Given the description of an element on the screen output the (x, y) to click on. 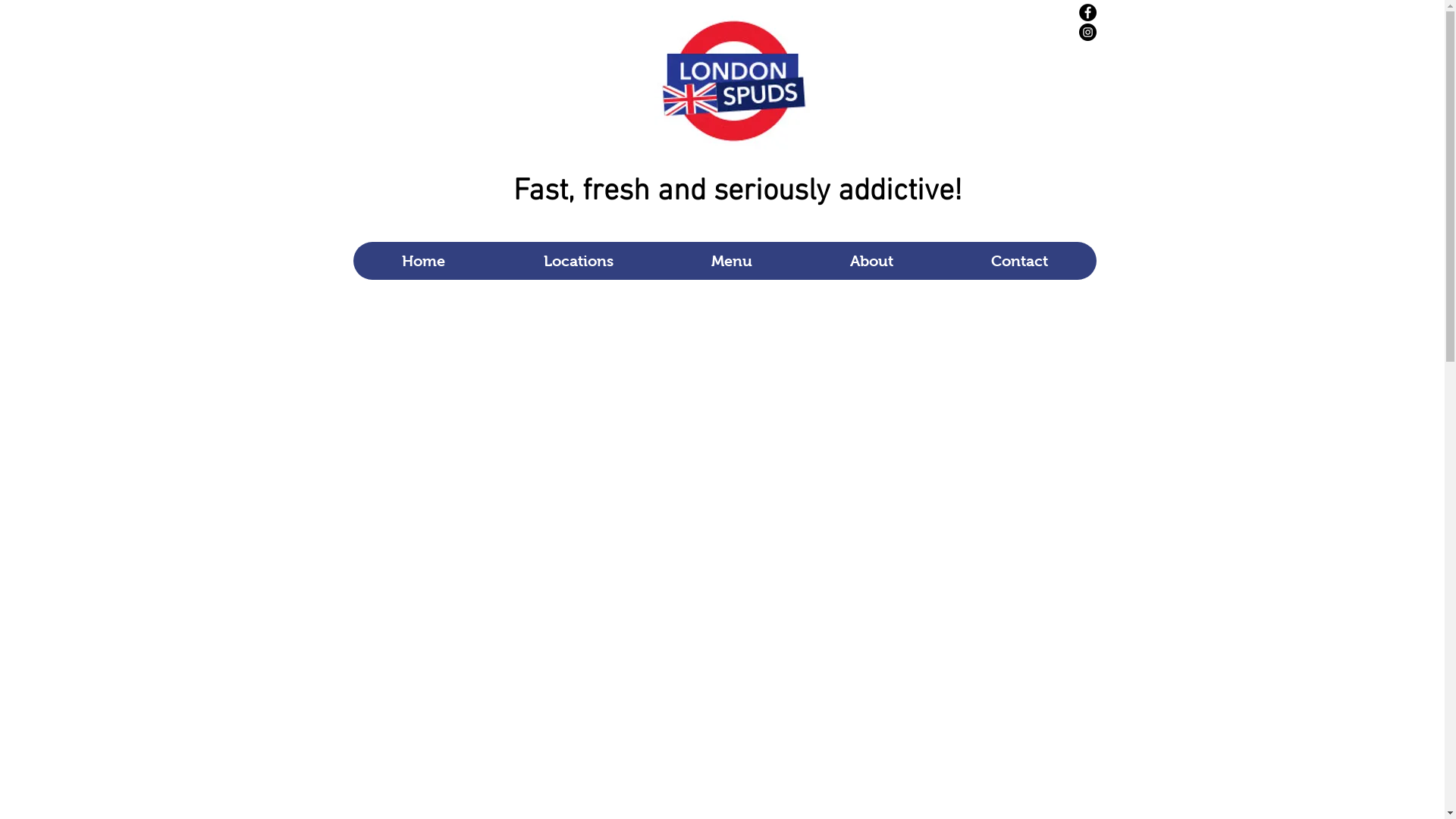
Contact Element type: text (1018, 260)
Home Element type: text (423, 260)
Locations Element type: text (578, 260)
About Element type: text (870, 260)
Menu Element type: text (730, 260)
